Given the description of an element on the screen output the (x, y) to click on. 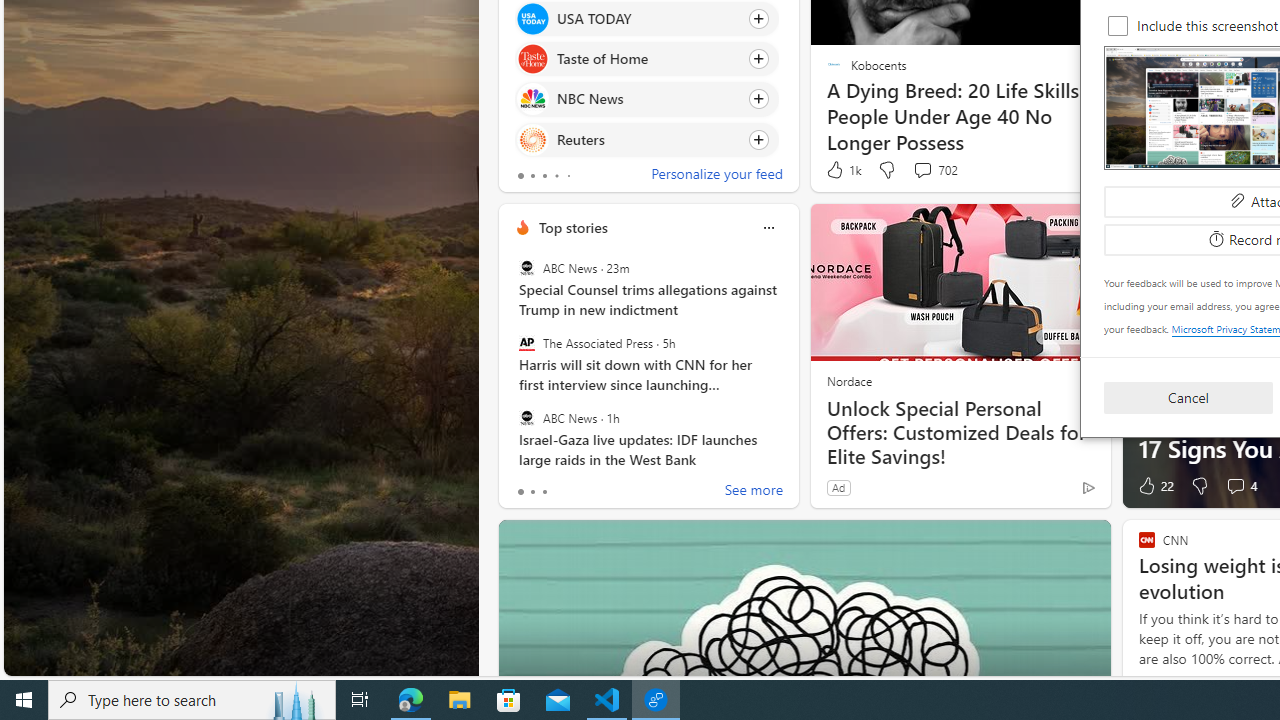
Search highlights icon opens search home window (295, 699)
